Given the description of an element on the screen output the (x, y) to click on. 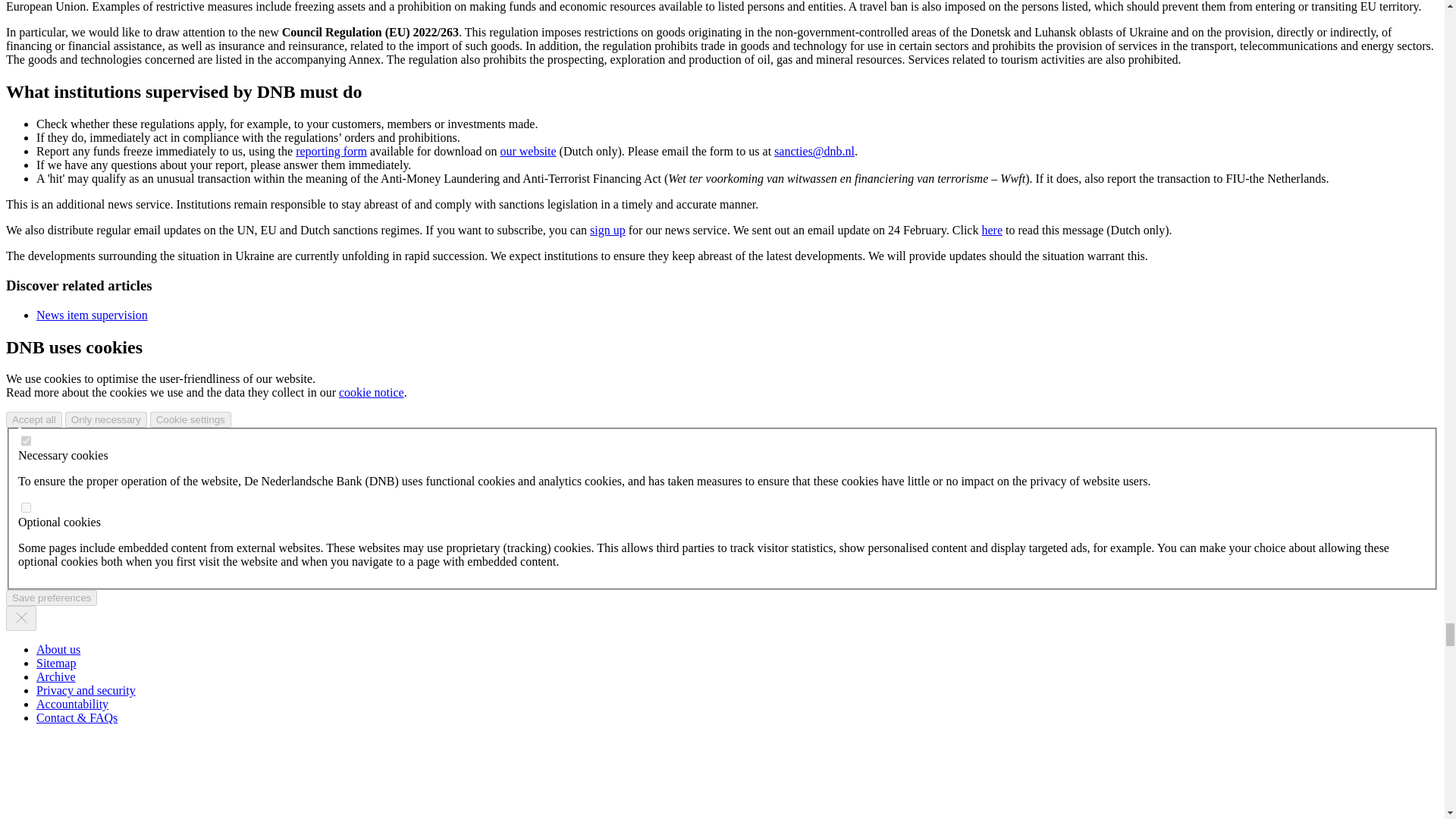
About us (58, 649)
Privacy and security (85, 689)
Functional (25, 440)
Cookie-notice (371, 391)
Sitemap (55, 662)
Accountability (71, 703)
Archive (55, 676)
Embed (25, 507)
